Given the description of an element on the screen output the (x, y) to click on. 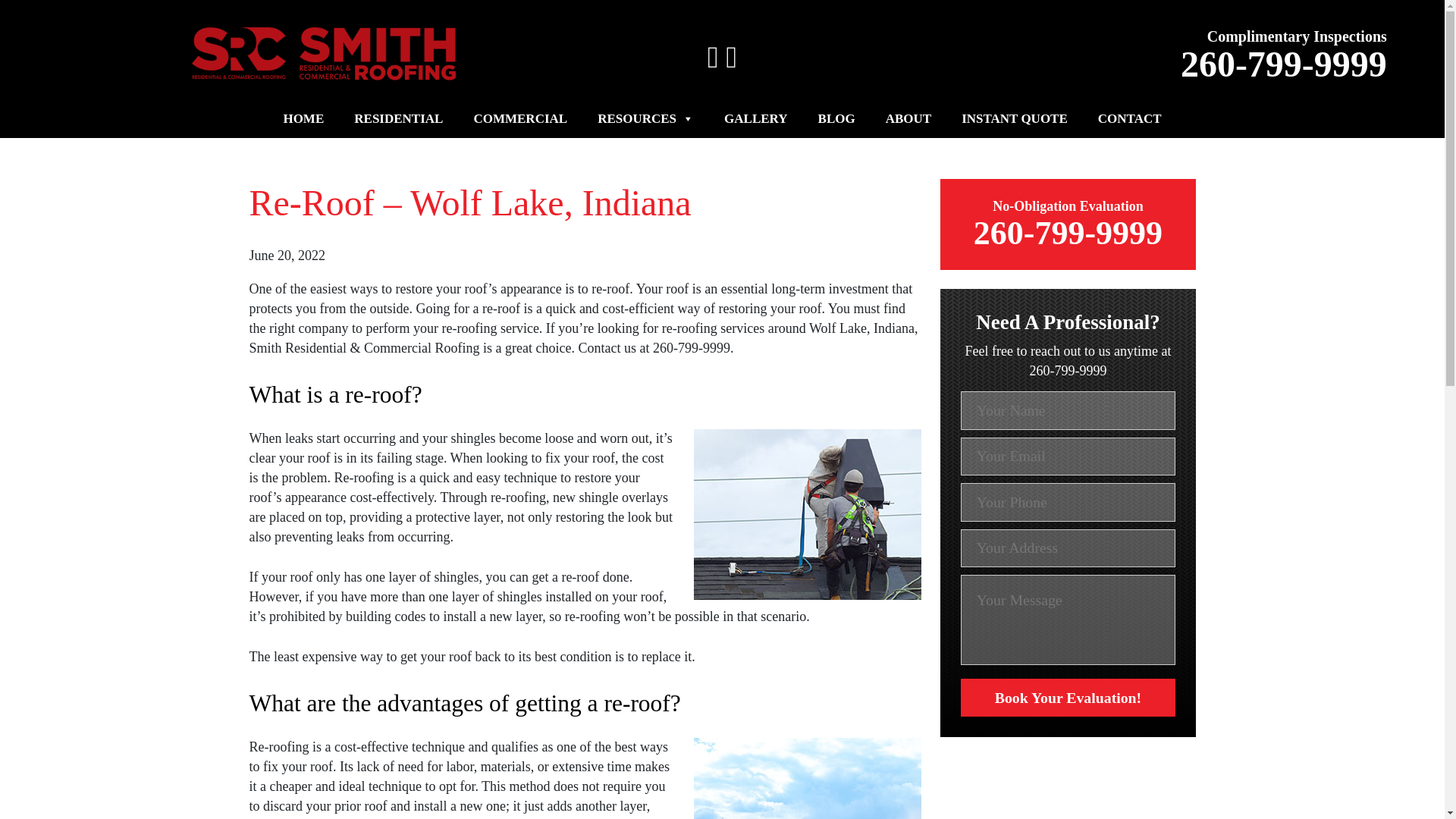
Book Your Evaluation! (1066, 697)
HOME (303, 118)
ABOUT (908, 118)
Re-Roof - Wolf Lake, Indiana 2 (807, 778)
GALLERY (755, 118)
RESIDENTIAL (398, 118)
Re-Roof - Wolf Lake, Indiana 1 (807, 514)
Book Your Evaluation! (1050, 723)
CONTACT (1129, 118)
BLOG (836, 118)
